Given the description of an element on the screen output the (x, y) to click on. 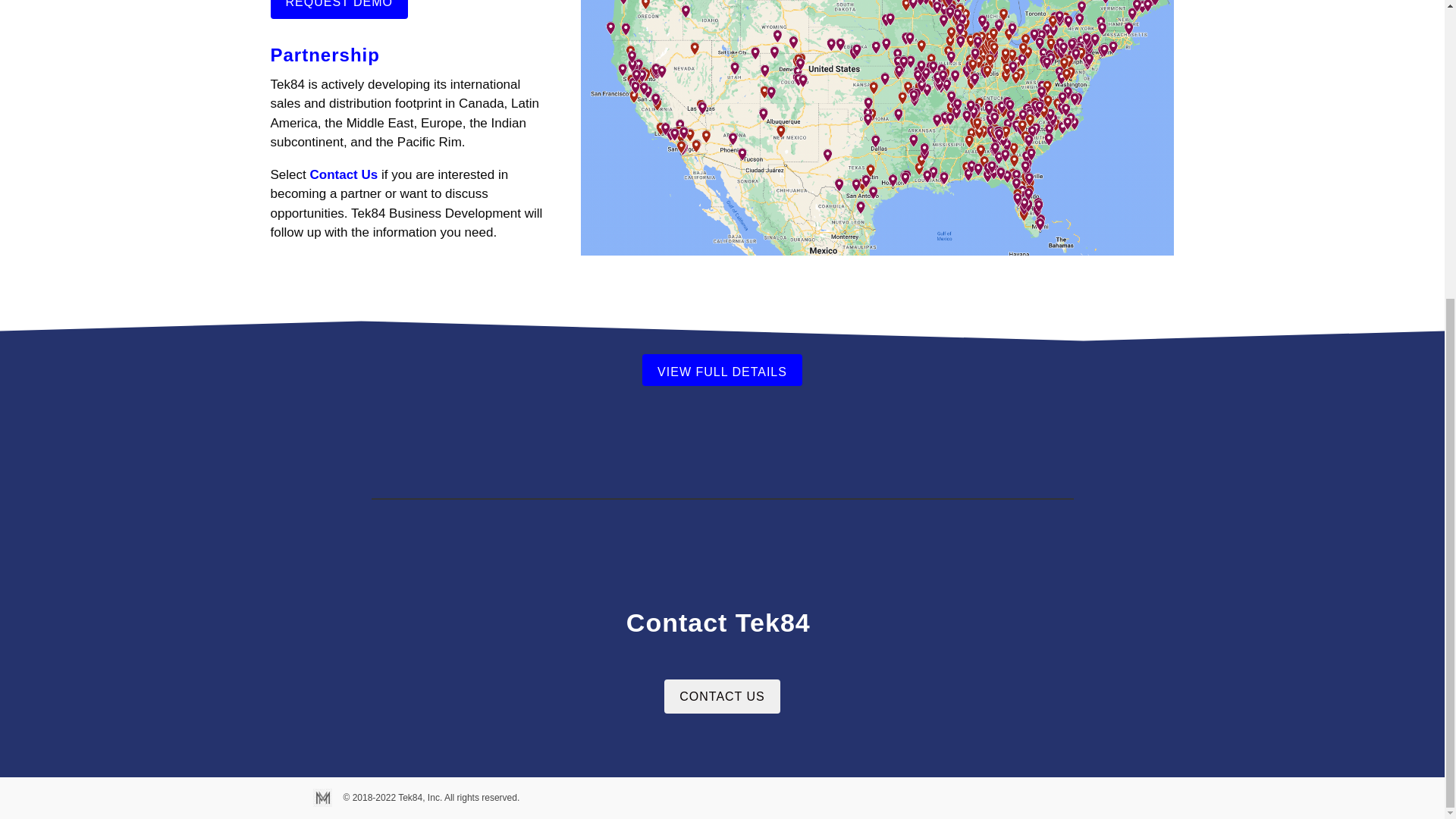
Contact Us (342, 174)
VIEW FULL DETAILS (722, 368)
CONTACT US (721, 696)
REQUEST DEMO (338, 9)
